Given the description of an element on the screen output the (x, y) to click on. 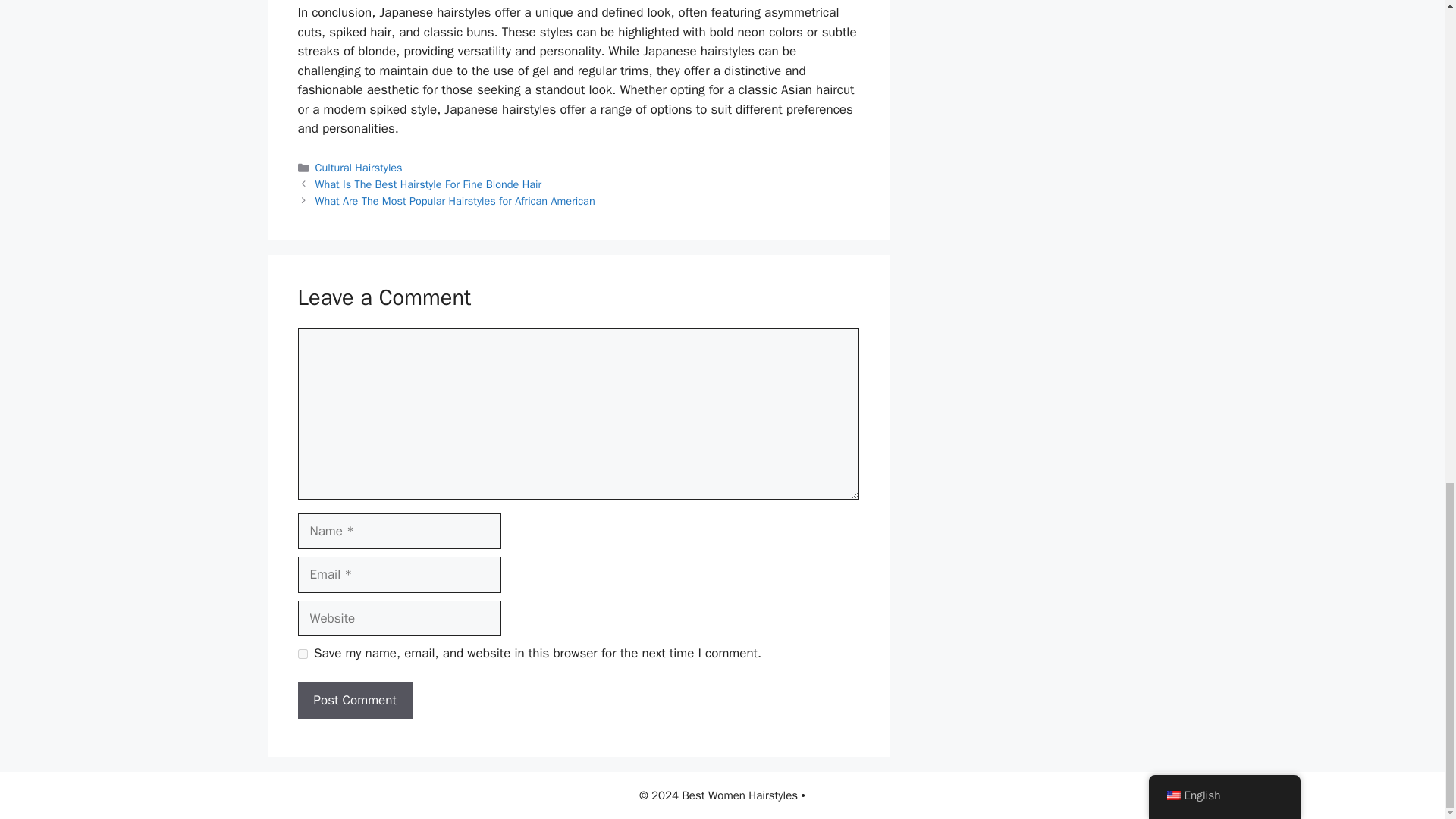
Cultural Hairstyles (359, 167)
What Are The Most Popular Hairstyles for African American (455, 201)
What Is The Best Hairstyle For Fine Blonde Hair (428, 183)
Post Comment (354, 700)
yes (302, 654)
Post Comment (354, 700)
